Given the description of an element on the screen output the (x, y) to click on. 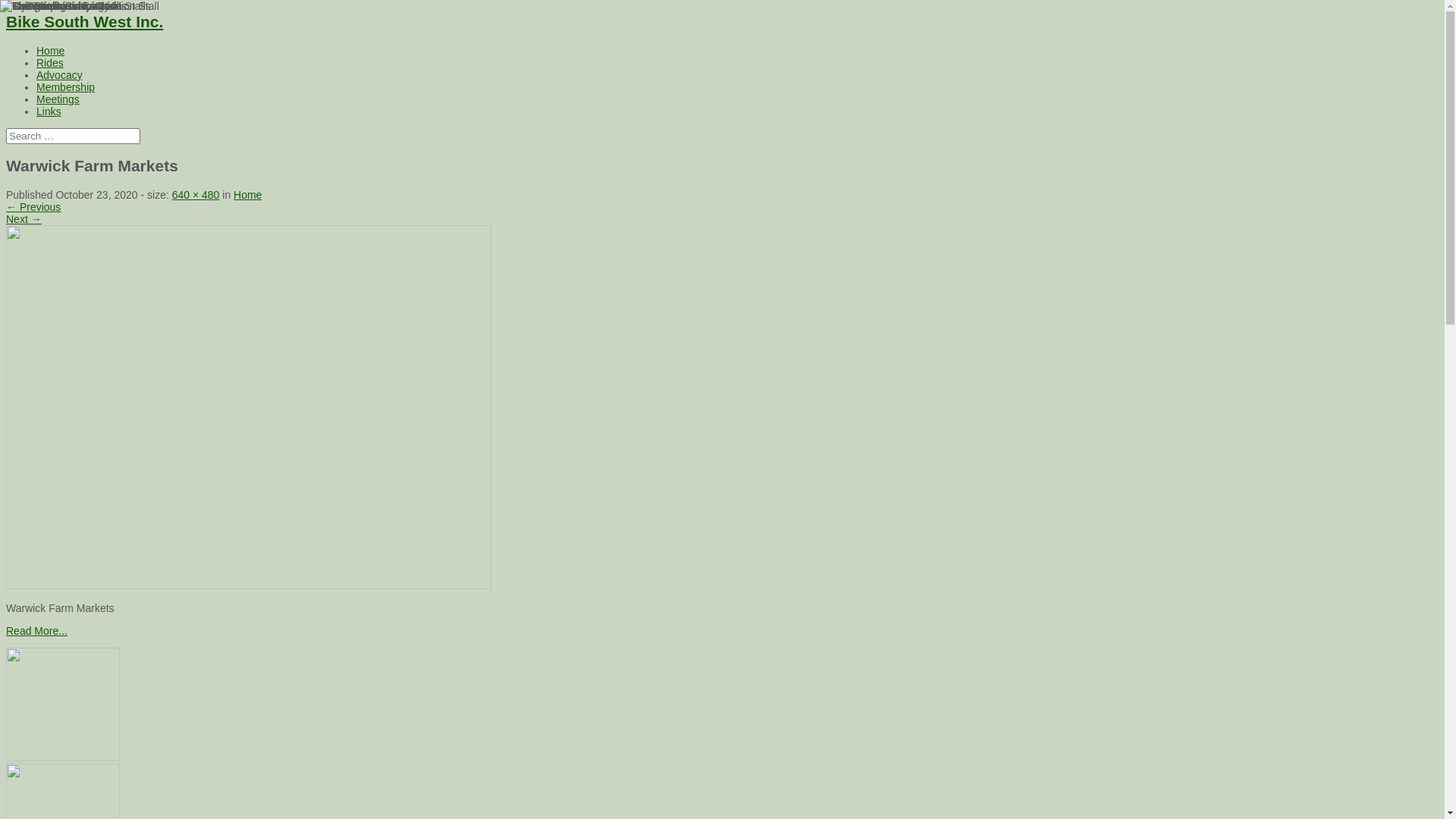
Home Element type: text (247, 194)
Bike South West Inc. Element type: text (84, 21)
Advocacy Element type: text (59, 75)
Membership Element type: text (65, 87)
Warwick Farm Markets Element type: hover (248, 585)
Meetings Element type: text (57, 99)
Links Element type: text (48, 111)
Rides Element type: text (49, 62)
Read More... Element type: text (36, 630)
Home Element type: text (50, 50)
